Given the description of an element on the screen output the (x, y) to click on. 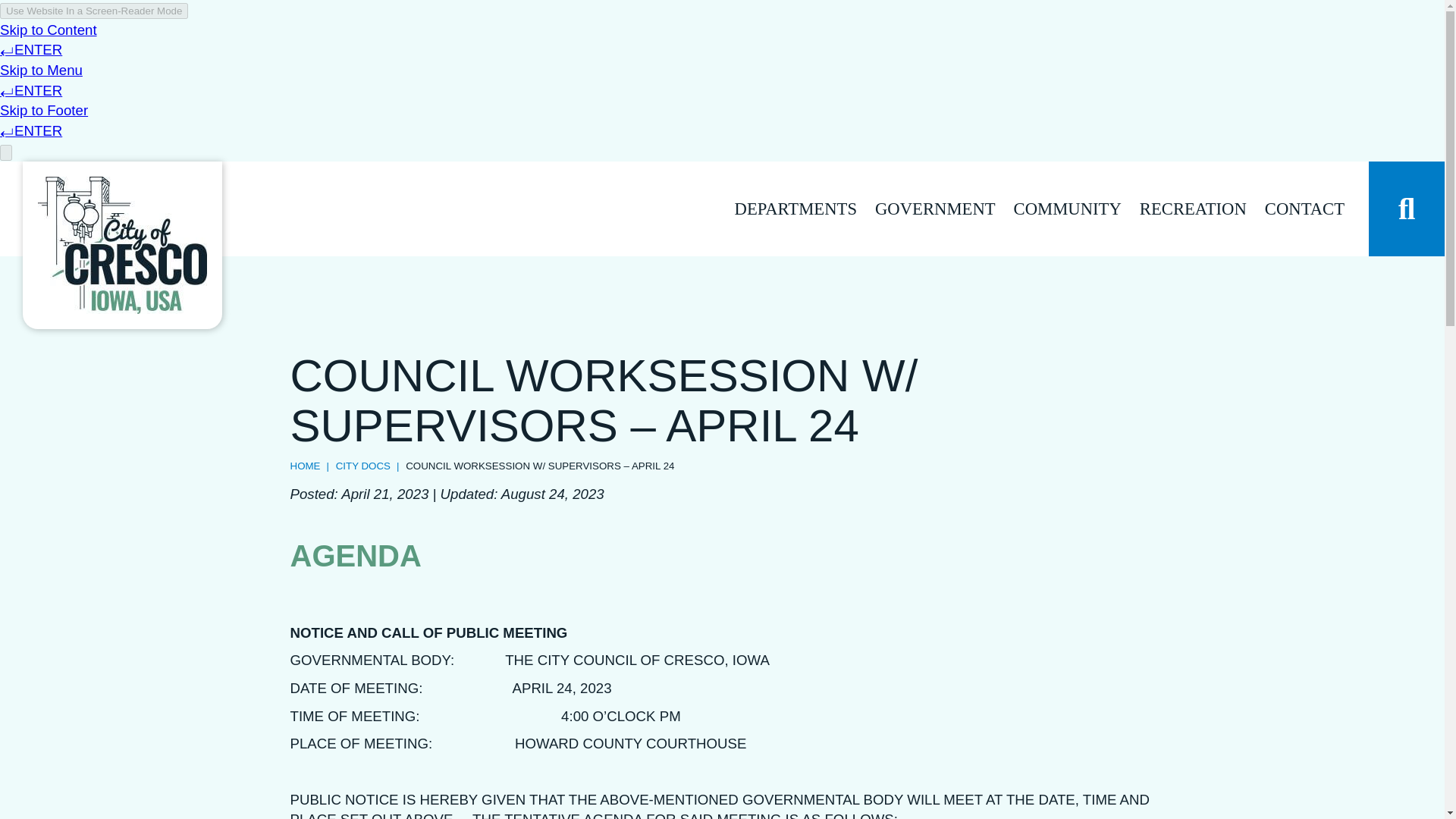
Cresco Logo (121, 244)
